Given the description of an element on the screen output the (x, y) to click on. 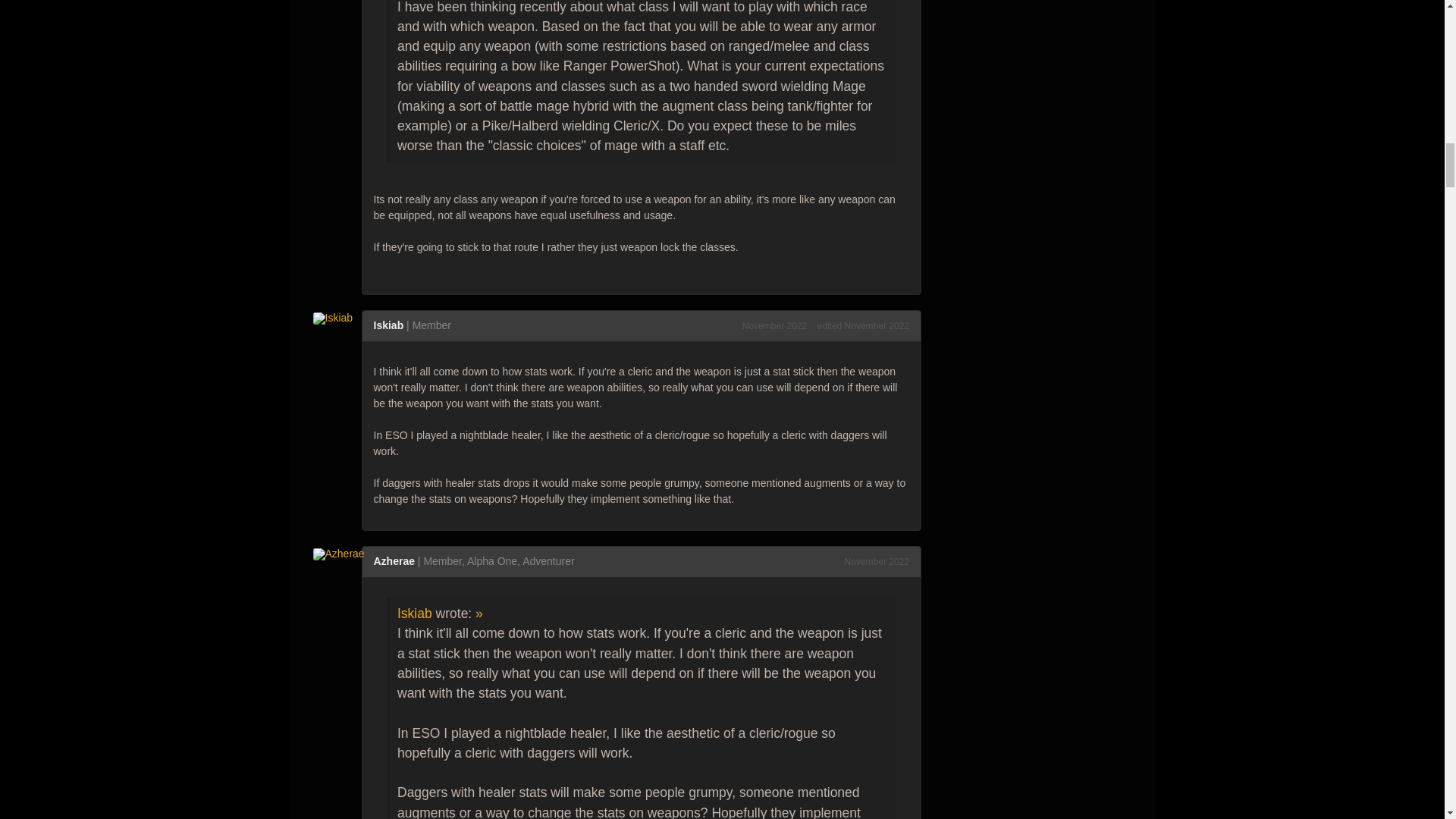
Iskiab (337, 317)
Edited November 16, 2022 11:38PM by Iskiab. (862, 326)
November 16, 2022 11:32PM (774, 326)
